Given the description of an element on the screen output the (x, y) to click on. 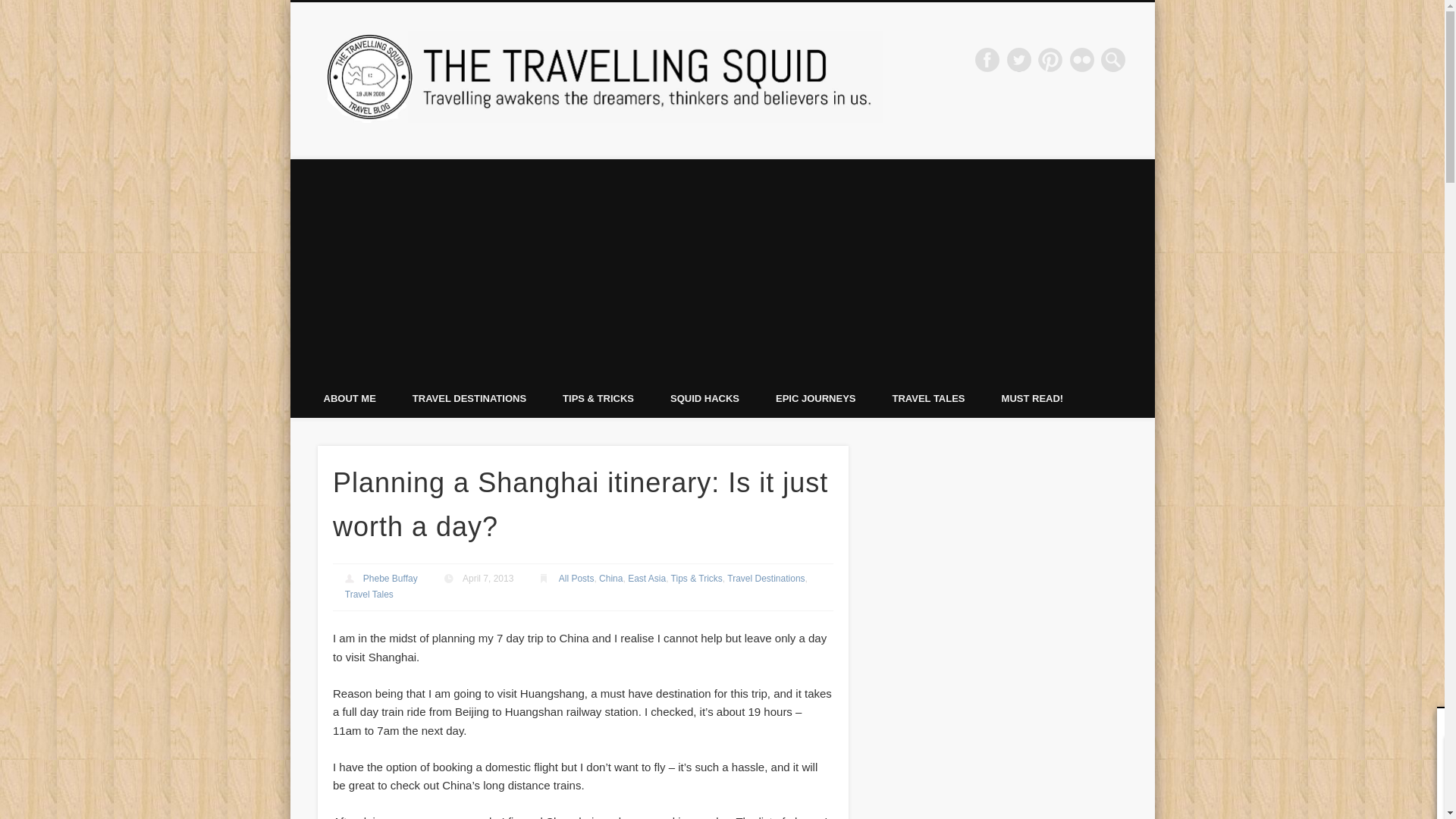
The Travelling Squid (1000, 59)
Posts by Phebe Buffay (389, 578)
Flickr (1082, 59)
Search (11, 7)
Facebook (986, 59)
TRAVEL DESTINATIONS (469, 398)
Pinterest (1050, 59)
Twitter (1018, 59)
ABOUT ME (348, 398)
